Given the description of an element on the screen output the (x, y) to click on. 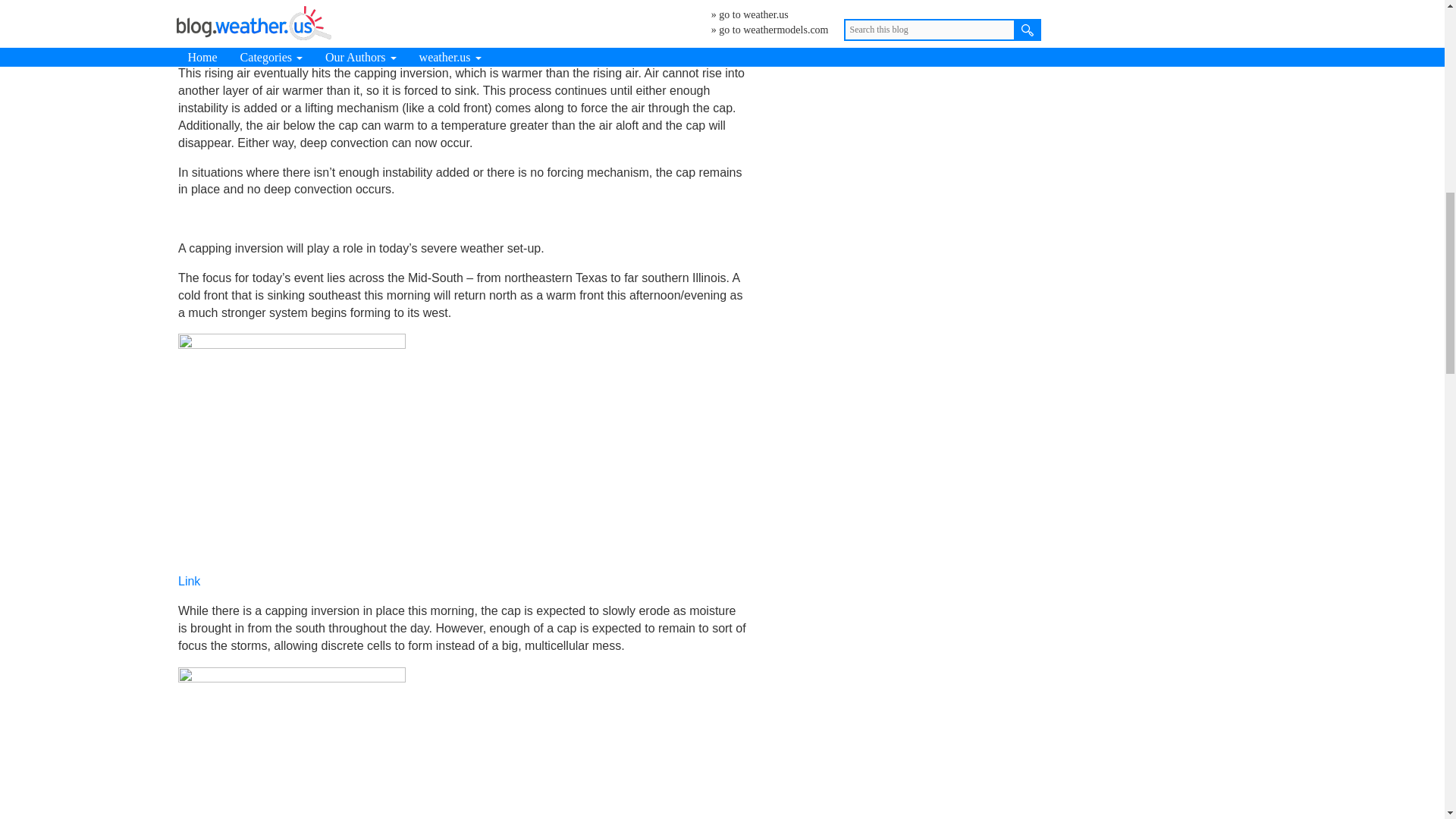
Link (188, 581)
